Given the description of an element on the screen output the (x, y) to click on. 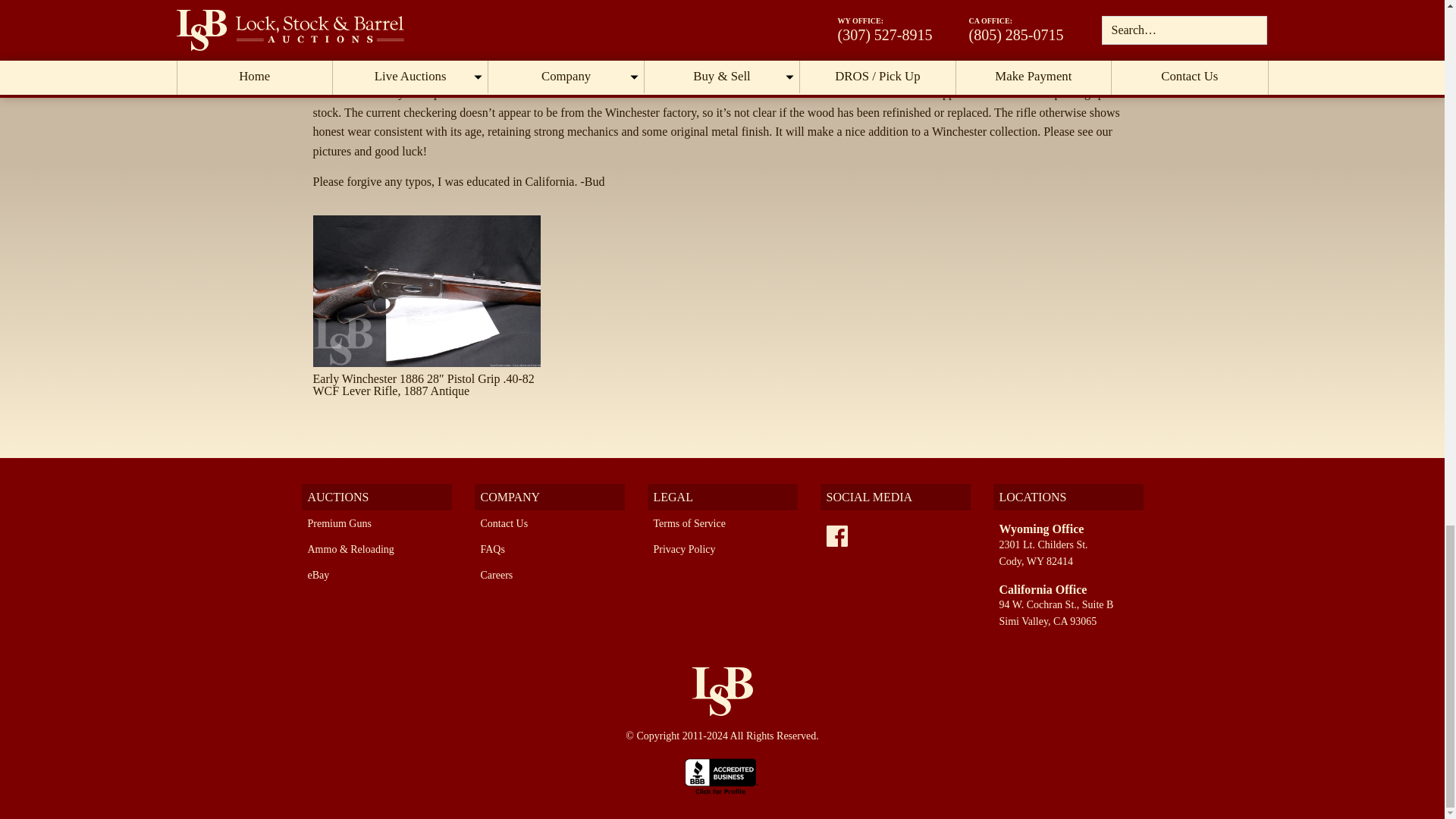
eBay (318, 574)
Privacy Policy (684, 549)
FAQs (492, 549)
Terms of Service (689, 523)
Contact Us (504, 523)
Careers (496, 574)
Premium Guns (339, 523)
Opens a new window (837, 536)
Business Review of Lock, Stock and Barrel Investments (722, 775)
Opens a new window (722, 775)
